Given the description of an element on the screen output the (x, y) to click on. 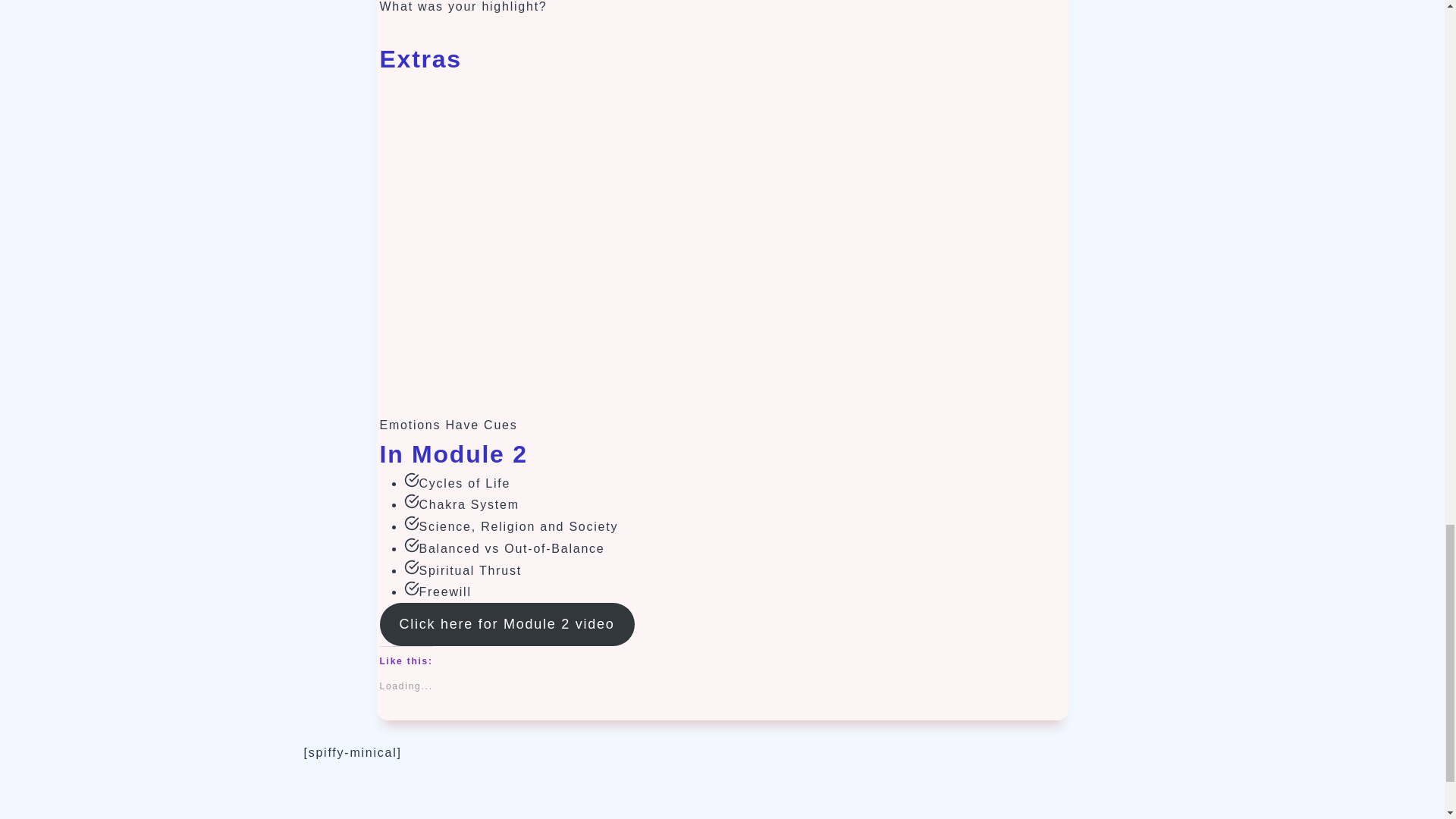
Click here for Module 2 video (505, 624)
